Given the description of an element on the screen output the (x, y) to click on. 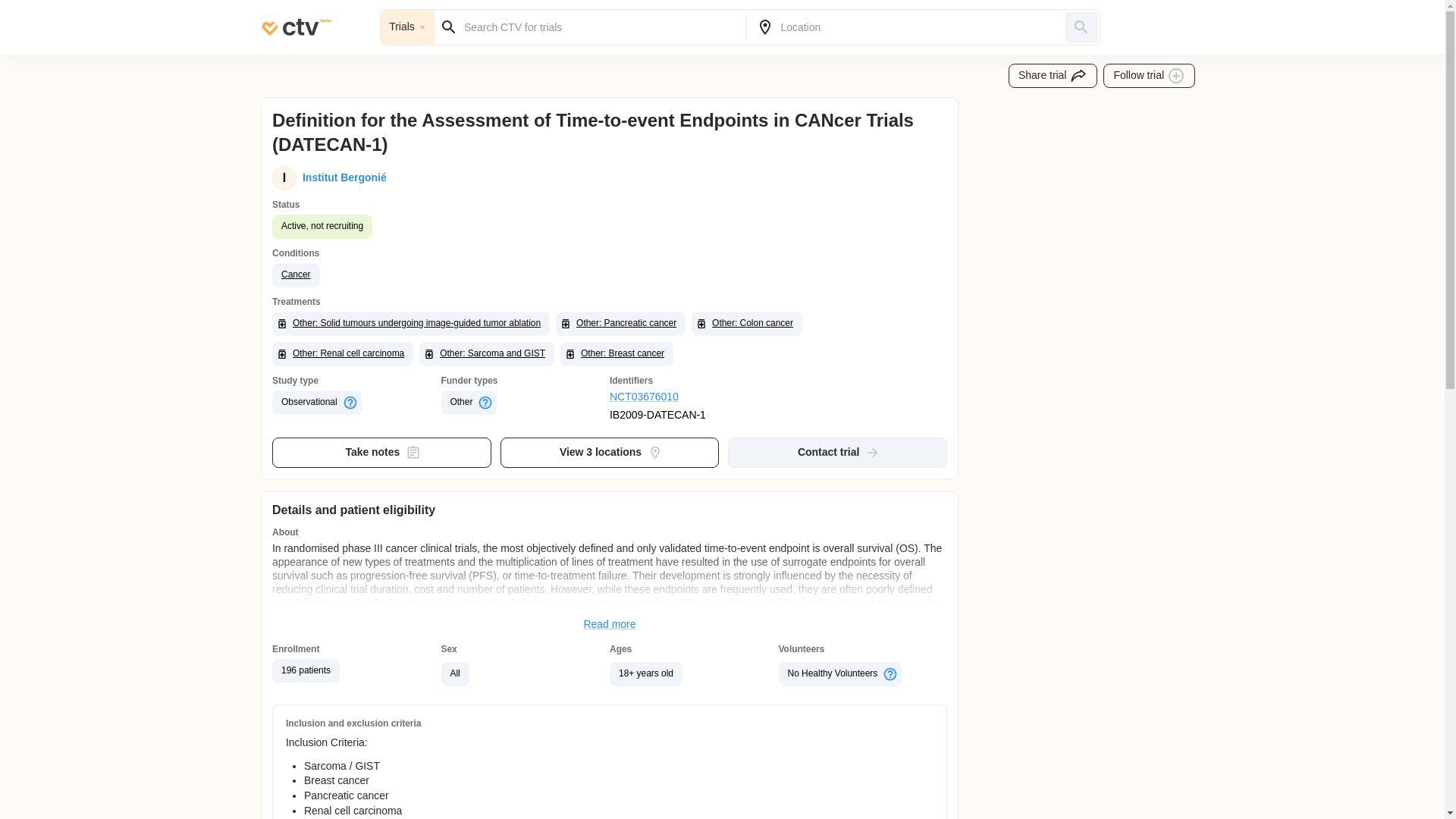
NCT03676010 (694, 397)
Read more (609, 624)
Contact trial (837, 452)
Follow trial (1149, 75)
Share trial (1053, 75)
Take notes (382, 452)
View 3 locations (609, 452)
Trials (407, 27)
